Given the description of an element on the screen output the (x, y) to click on. 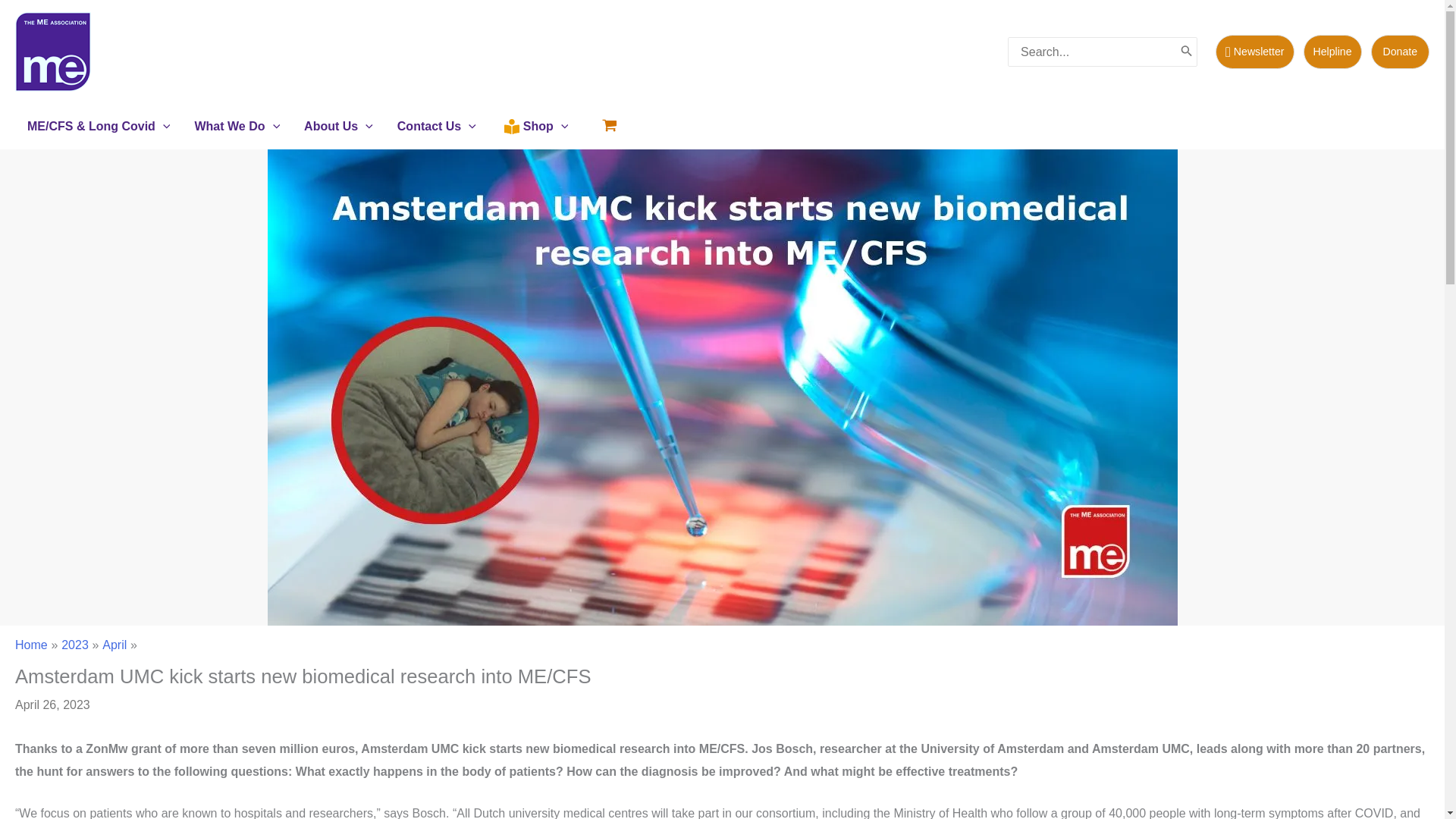
What We Do (237, 126)
Helpline (1337, 51)
Helpline (1332, 51)
Newsletter (1254, 51)
Donate (1400, 51)
Newsletter (1259, 51)
Donate (1400, 51)
